Given the description of an element on the screen output the (x, y) to click on. 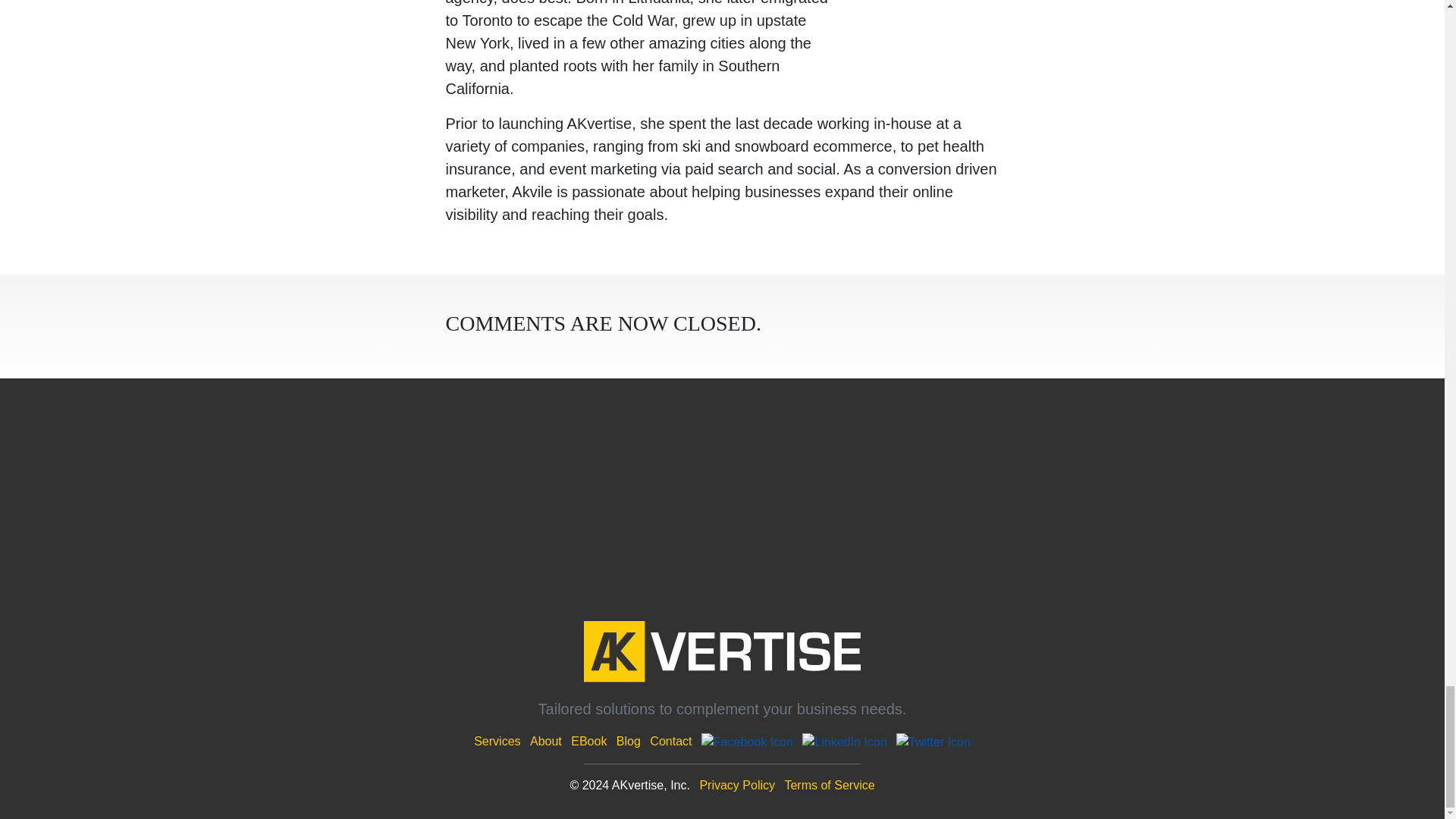
Twitter (933, 740)
Terms of Service (829, 784)
LinkedIn (844, 740)
About (545, 740)
Contact (670, 740)
Facebook (747, 740)
Privacy Policy (736, 784)
EBook (588, 740)
Blog (627, 740)
Services (496, 740)
